Given the description of an element on the screen output the (x, y) to click on. 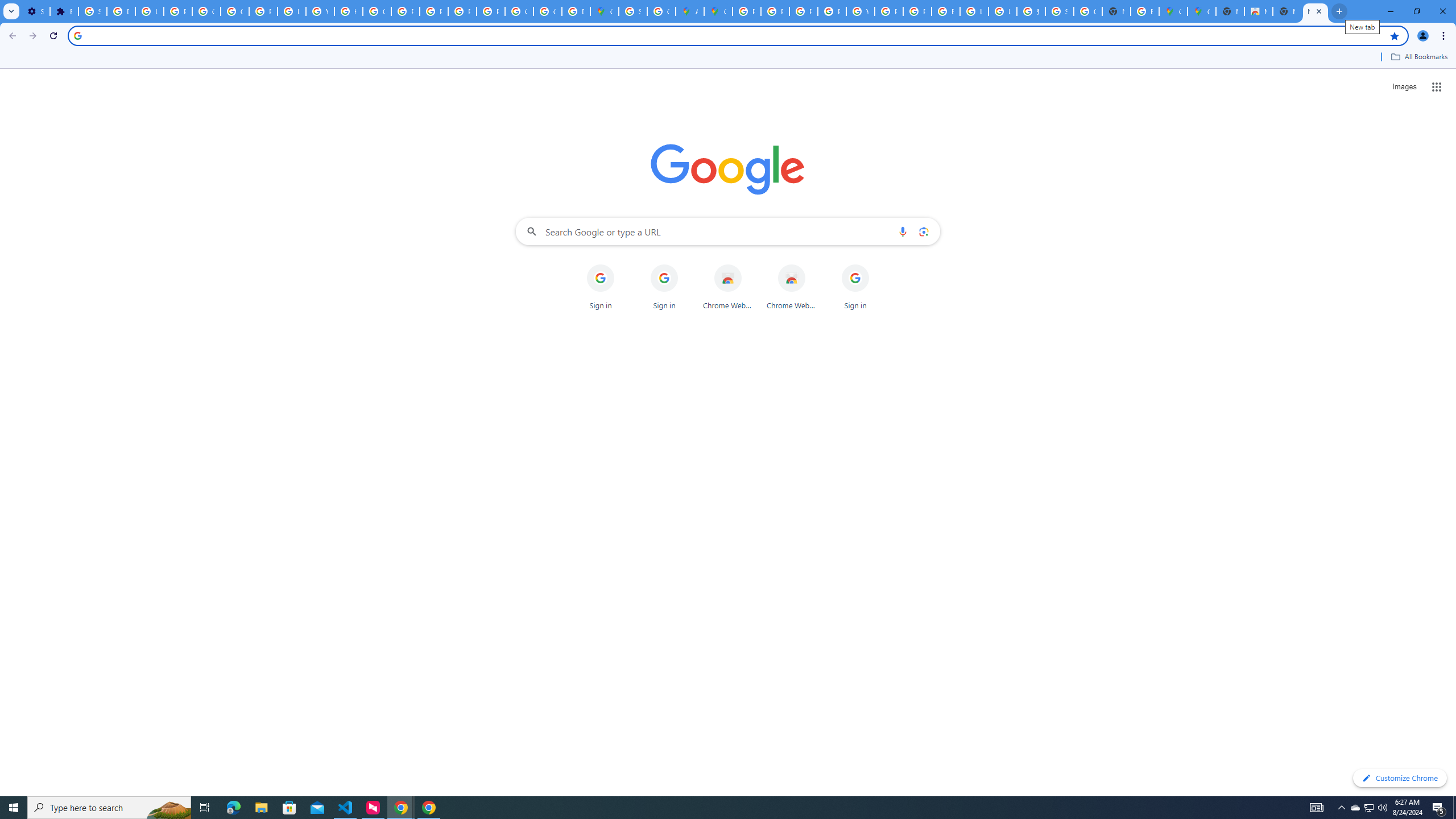
Google Maps (1173, 11)
Sign in - Google Accounts (92, 11)
https://scholar.google.com/ (348, 11)
Privacy Help Center - Policies Help (405, 11)
Privacy Help Center - Policies Help (774, 11)
Privacy Help Center - Policies Help (803, 11)
